Given the description of an element on the screen output the (x, y) to click on. 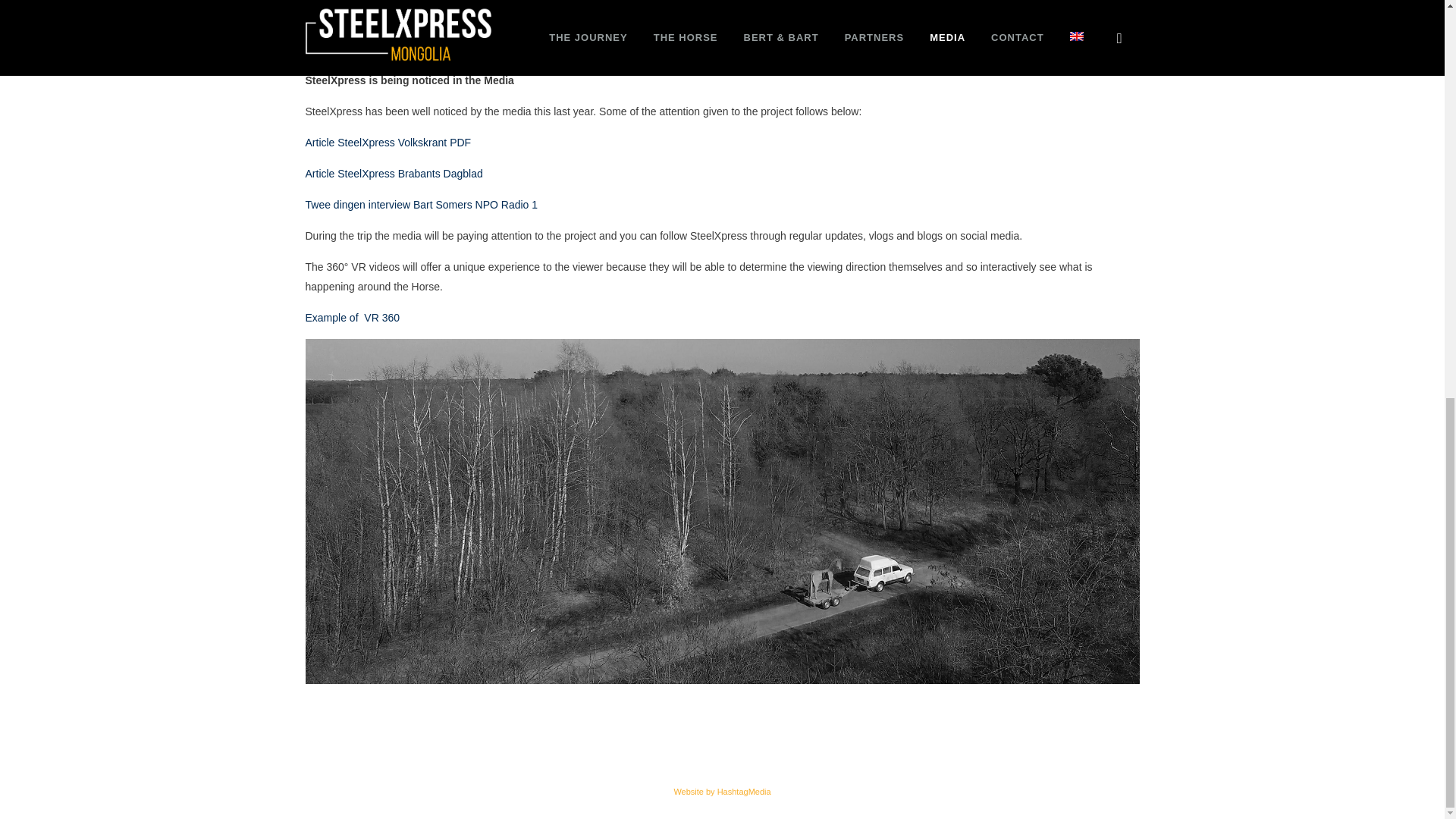
HashtagMedia (744, 791)
Article SteelXpress Volkskrant PDF (387, 142)
Twee dingen interview Bart Somers NPO Radio 1 (420, 204)
Article SteelXpress Brabants Dagblad (392, 173)
Example of  VR 360 (351, 317)
